Given the description of an element on the screen output the (x, y) to click on. 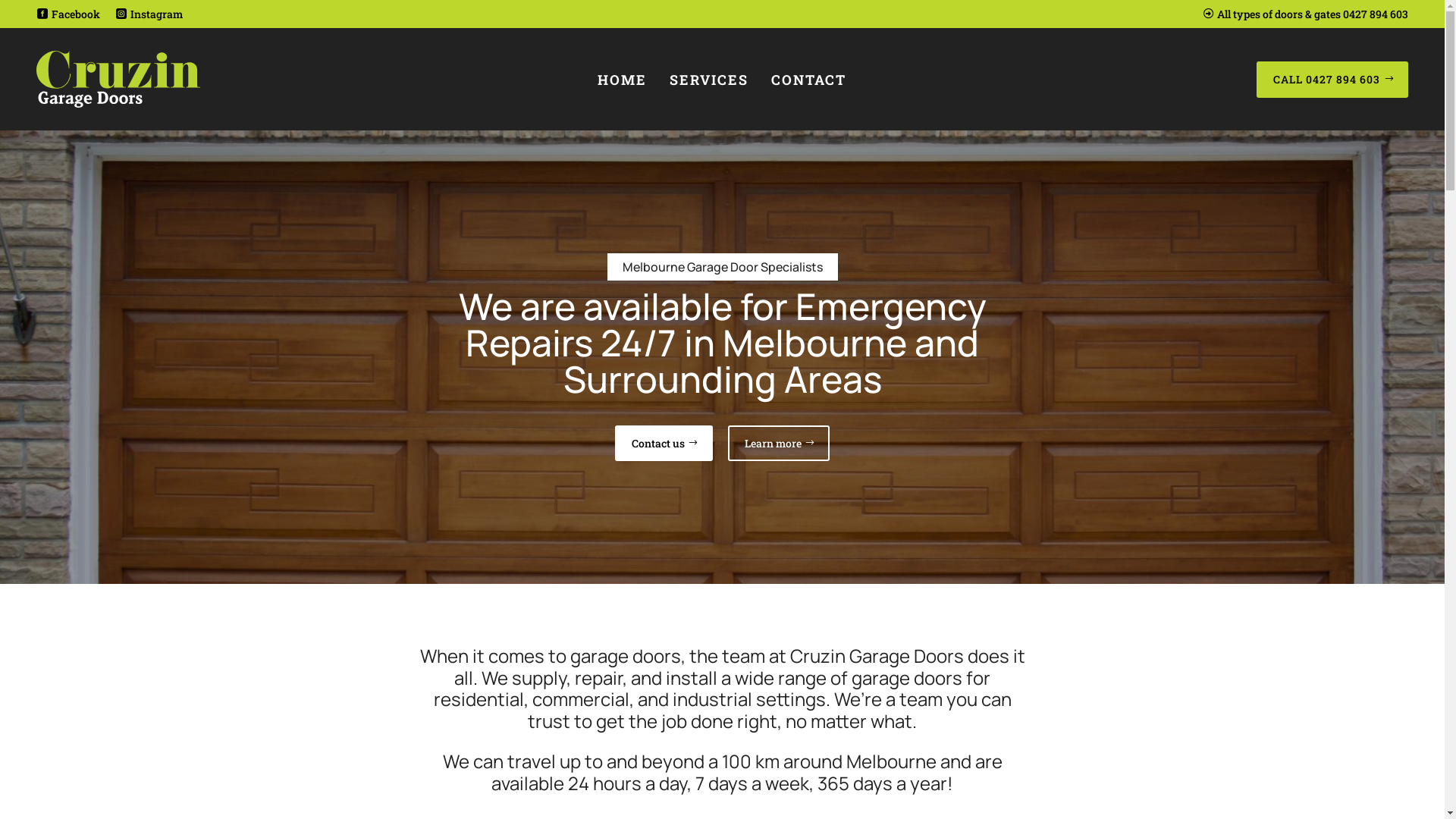
Instagram Element type: text (148, 14)
Facebook Element type: text (68, 14)
Asset 1 Element type: hover (118, 78)
SERVICES Element type: text (708, 79)
CALL 0427 894 603 Element type: text (1332, 79)
HOME Element type: text (622, 79)
CONTACT Element type: text (808, 79)
All types of doors & gates 0427 894 603 Element type: text (1304, 14)
Contact us Element type: text (663, 443)
Learn more Element type: text (778, 443)
